Given the description of an element on the screen output the (x, y) to click on. 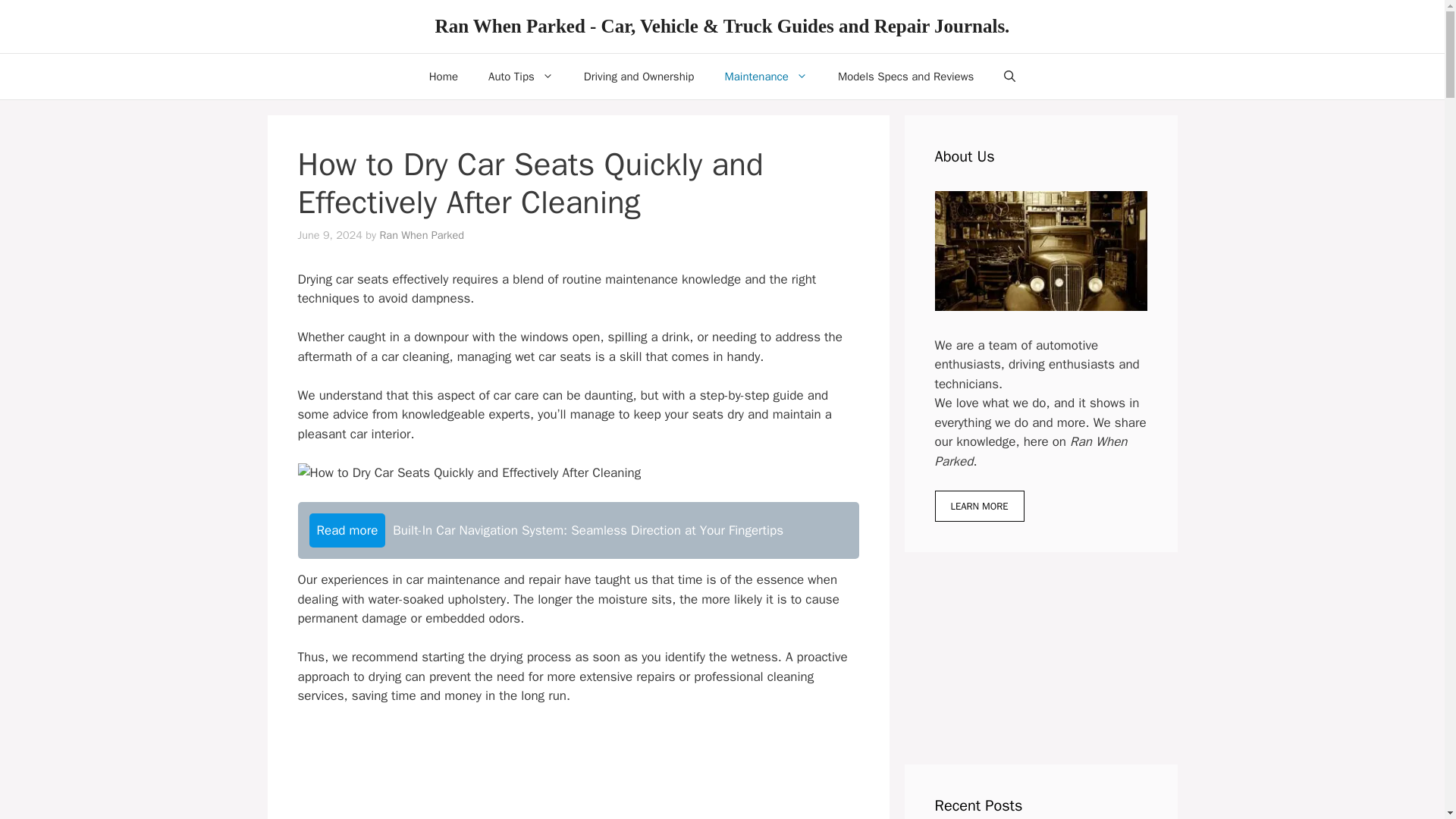
Models Specs and Reviews (905, 76)
View all posts by Ran When Parked (421, 234)
Home (443, 76)
Ran When Parked (421, 234)
Driving and Ownership (639, 76)
How to Dry Car Seats Quickly and Effectively After Cleaning (468, 473)
Maintenance (765, 76)
Auto Tips (521, 76)
